Given the description of an element on the screen output the (x, y) to click on. 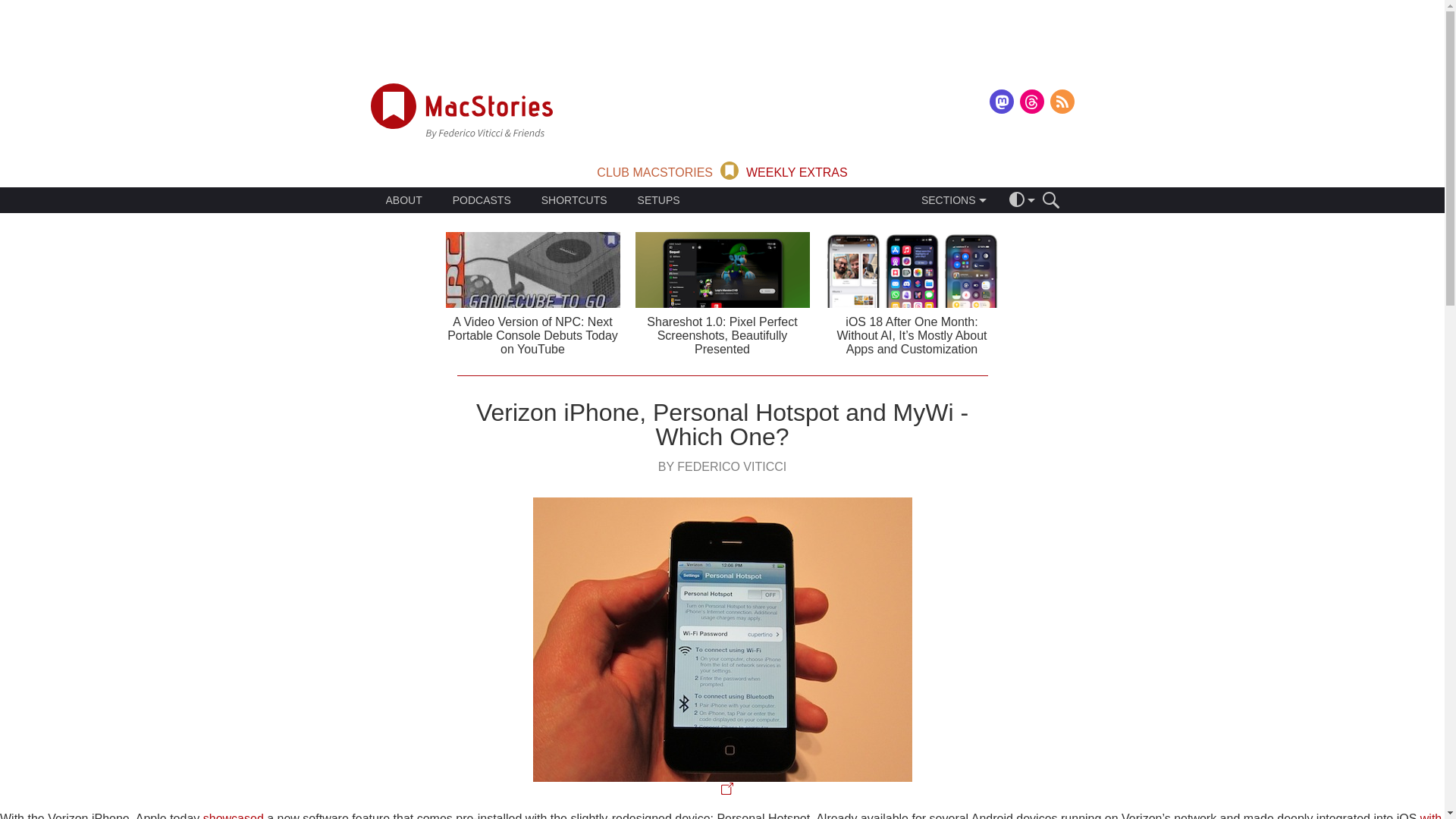
SHORTCUTS (574, 199)
BY FEDERICO VITICCI (722, 466)
PODCASTS (481, 199)
showcased (233, 815)
ABOUT (403, 199)
CLUB MACSTORIESWEEKLY EXTRAS (721, 169)
